Given the description of an element on the screen output the (x, y) to click on. 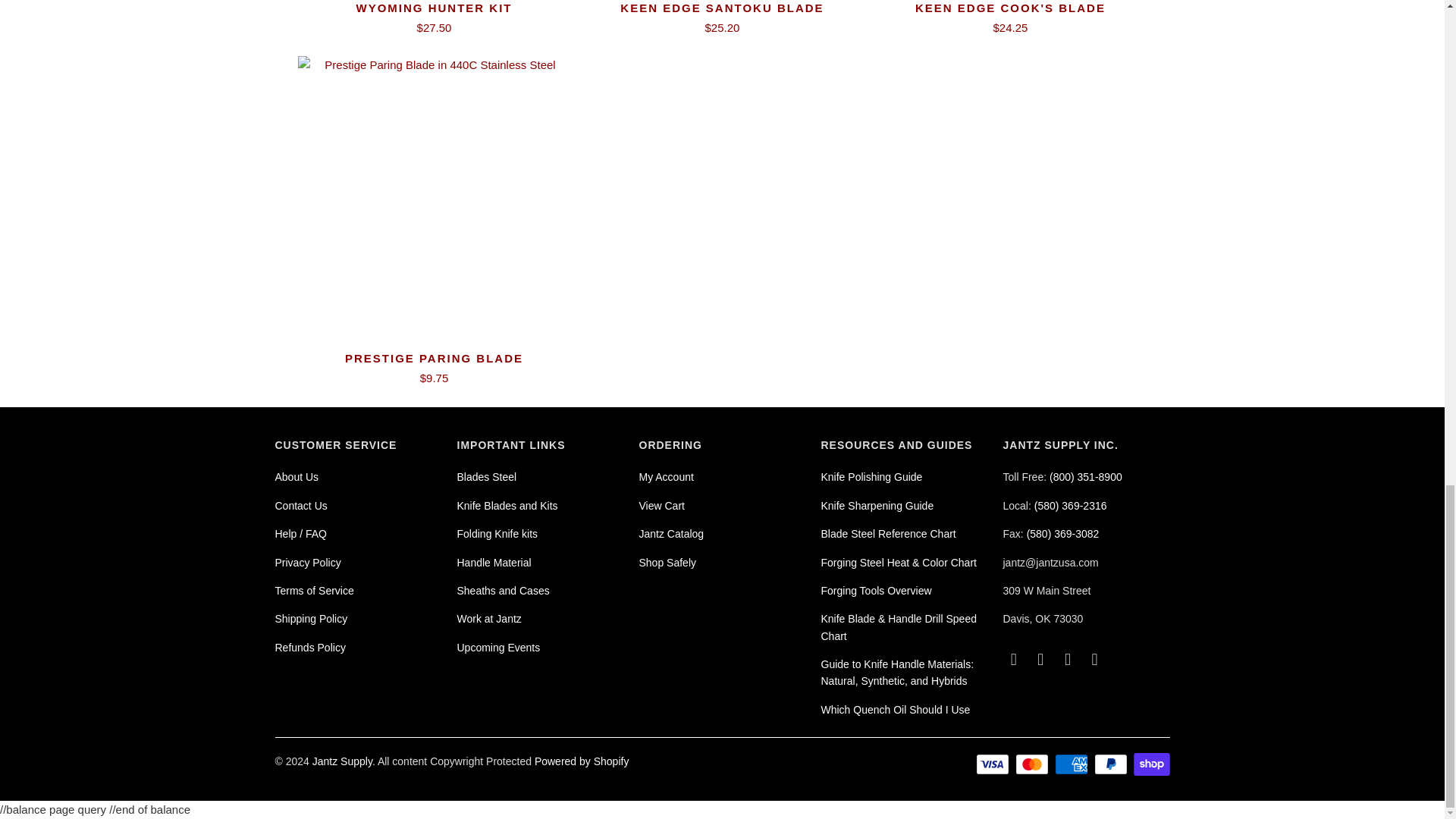
American Express (1072, 763)
Mastercard (1032, 763)
PayPal (1112, 763)
Shop Pay (1150, 763)
Visa (993, 763)
